Given the description of an element on the screen output the (x, y) to click on. 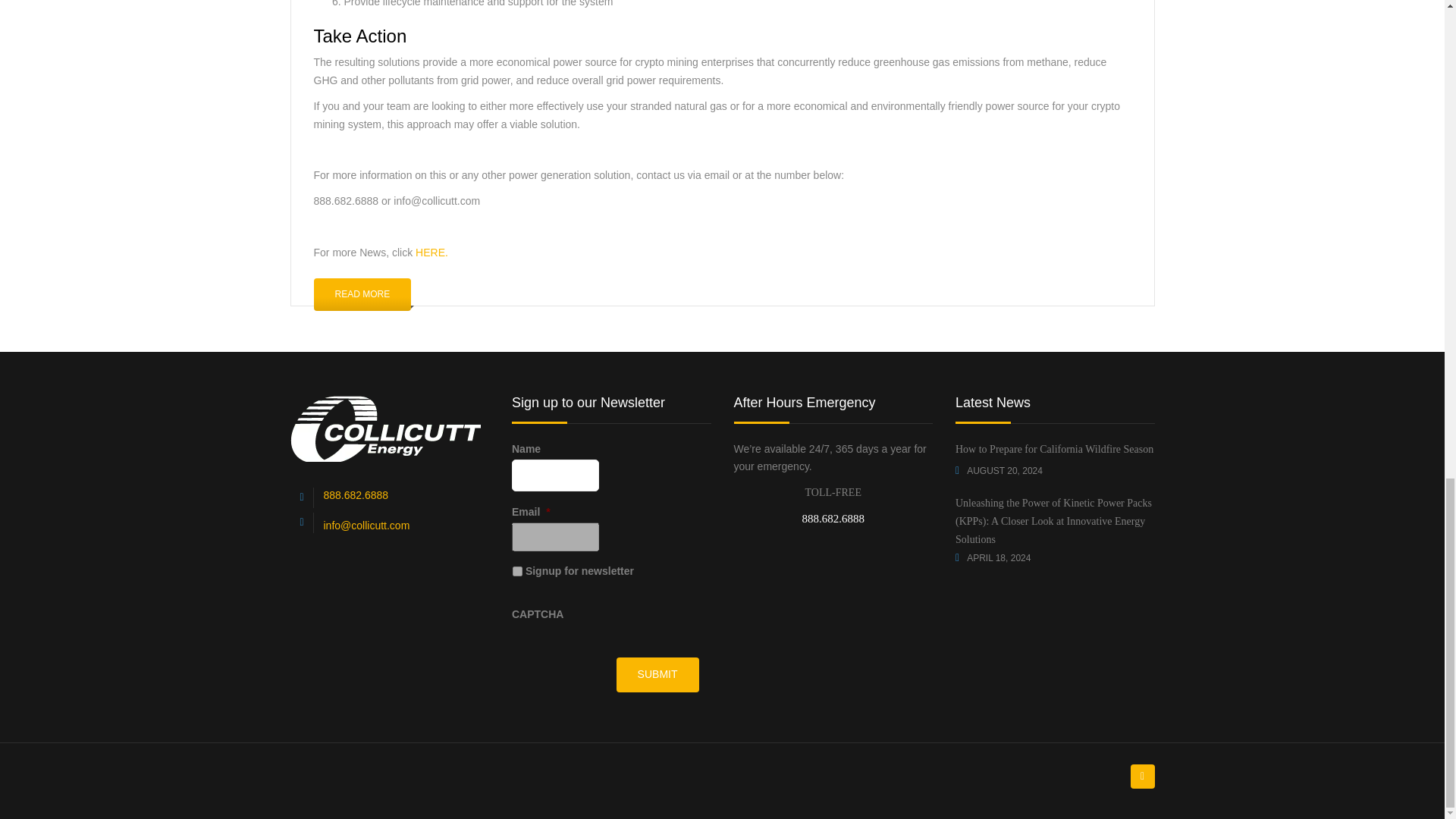
HERE. (431, 252)
Submit (656, 674)
READ MORE (363, 294)
YES (517, 571)
888.682.6888 (355, 494)
888.682.6888 (833, 518)
Submit (656, 674)
How to Prepare for California Wildfire Season (1054, 451)
